Given the description of an element on the screen output the (x, y) to click on. 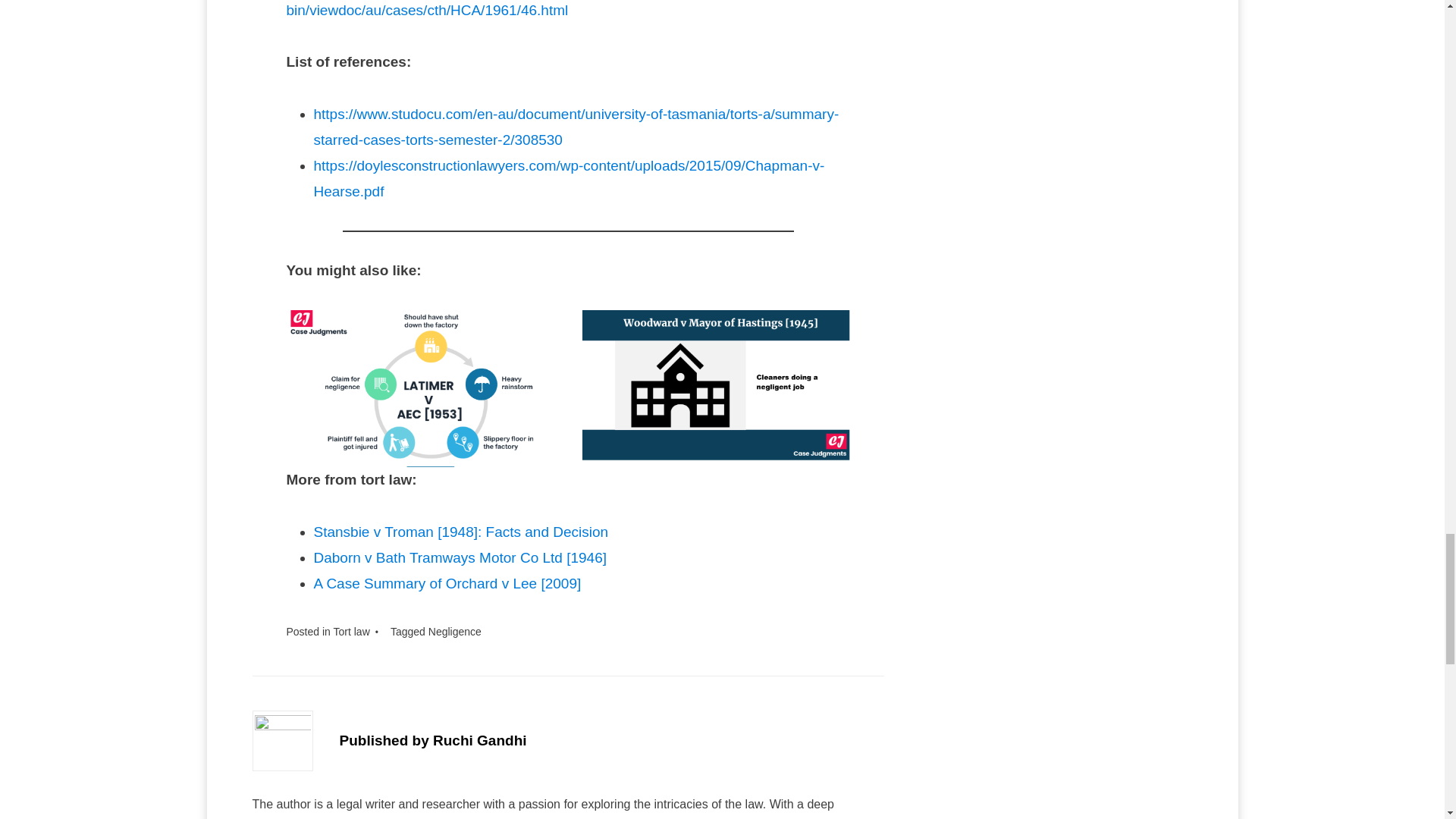
Tort law (351, 631)
Negligence (454, 631)
